Given the description of an element on the screen output the (x, y) to click on. 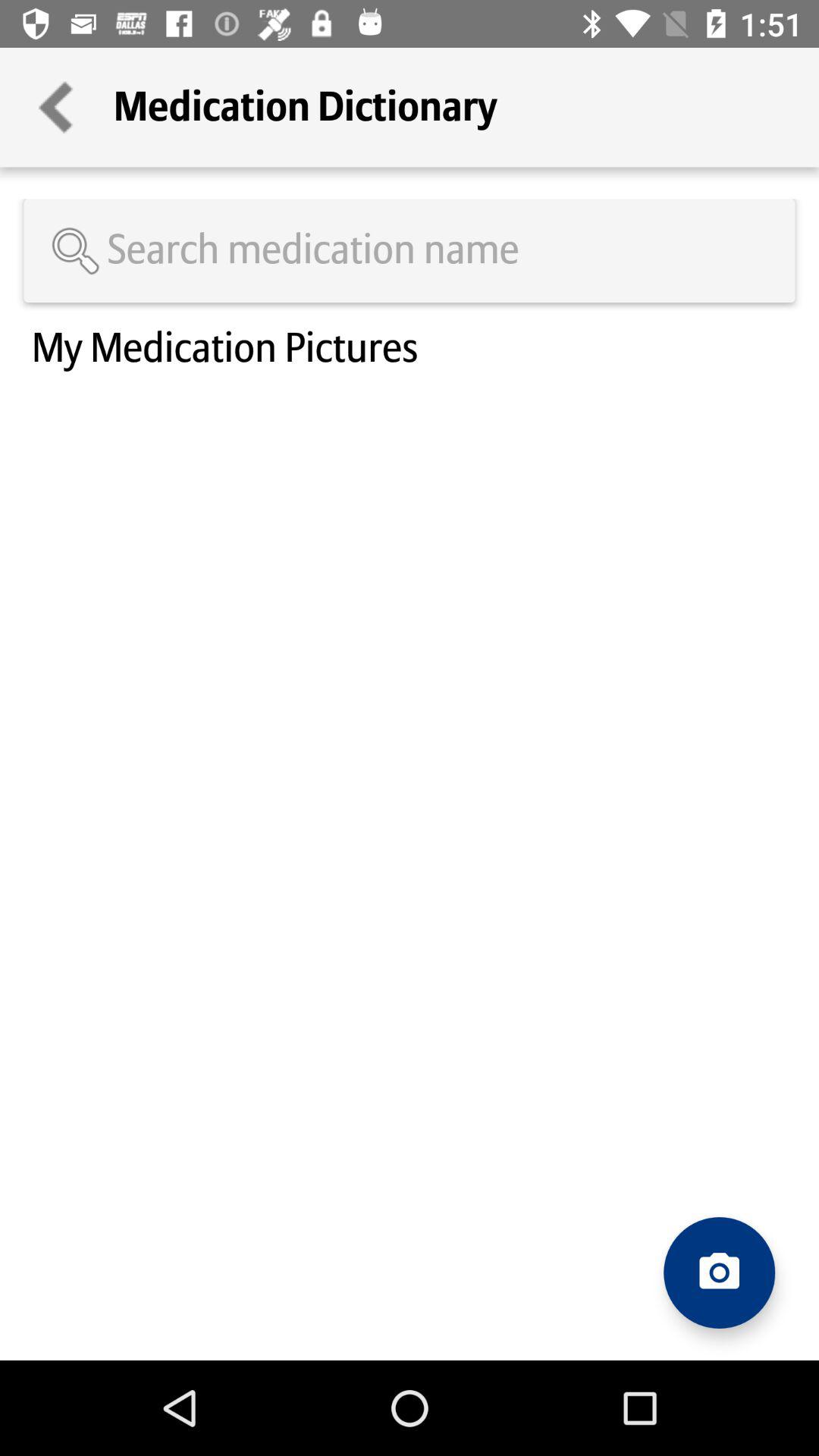
choose the icon next to medication dictionary (56, 107)
